Given the description of an element on the screen output the (x, y) to click on. 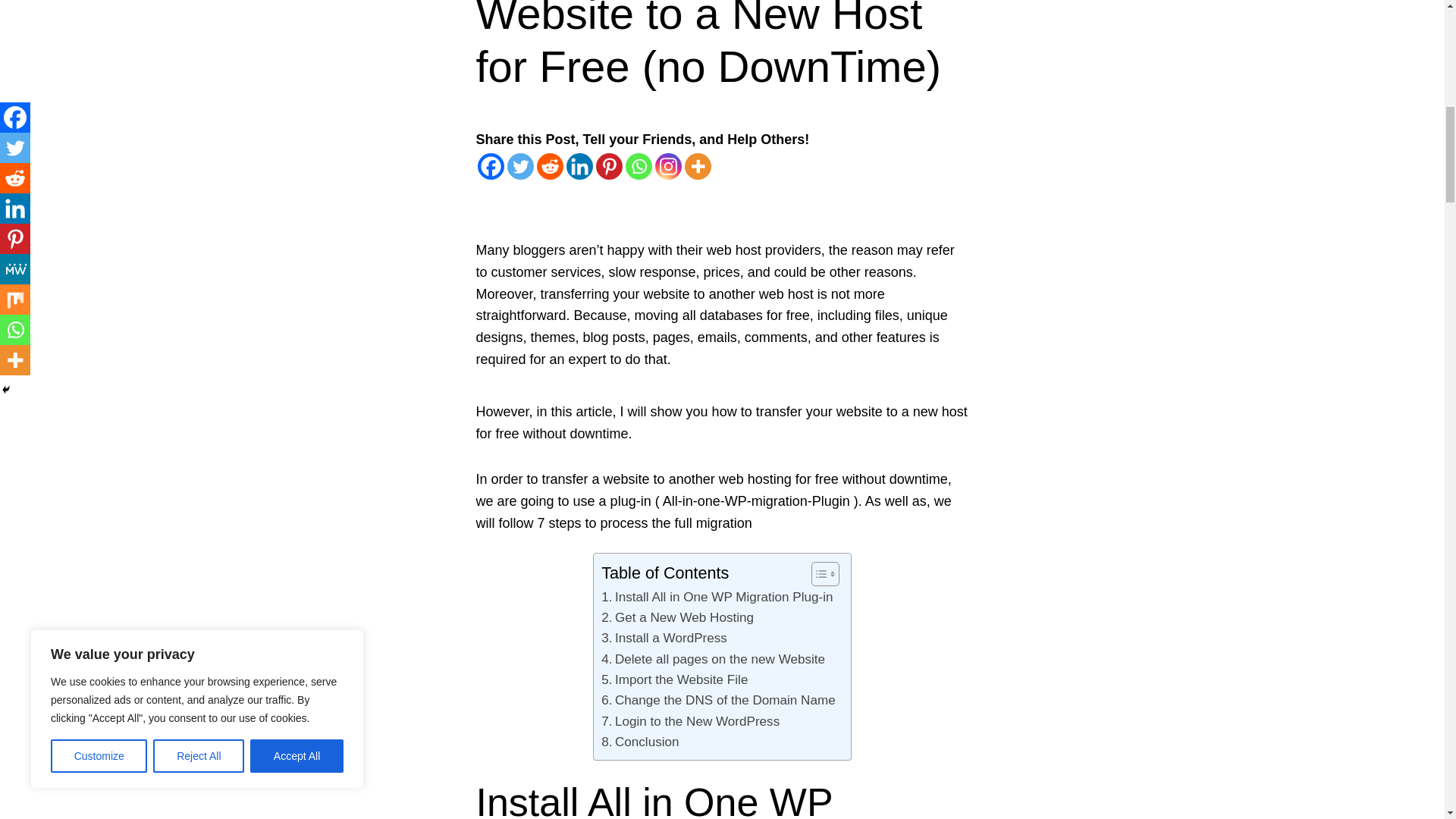
More (697, 166)
Install a WordPress (663, 638)
Linkedin (579, 166)
Login to the New WordPress (689, 721)
Change the DNS of the Domain Name (717, 700)
Get a New Web Hosting (677, 617)
Delete all pages on the new Website (713, 659)
Whatsapp (637, 166)
Pinterest (609, 166)
Facebook (490, 166)
Reddit (550, 166)
Import the Website File (674, 679)
Install All in One WP Migration Plug-in (716, 597)
Twitter (519, 166)
Instagram (668, 166)
